Given the description of an element on the screen output the (x, y) to click on. 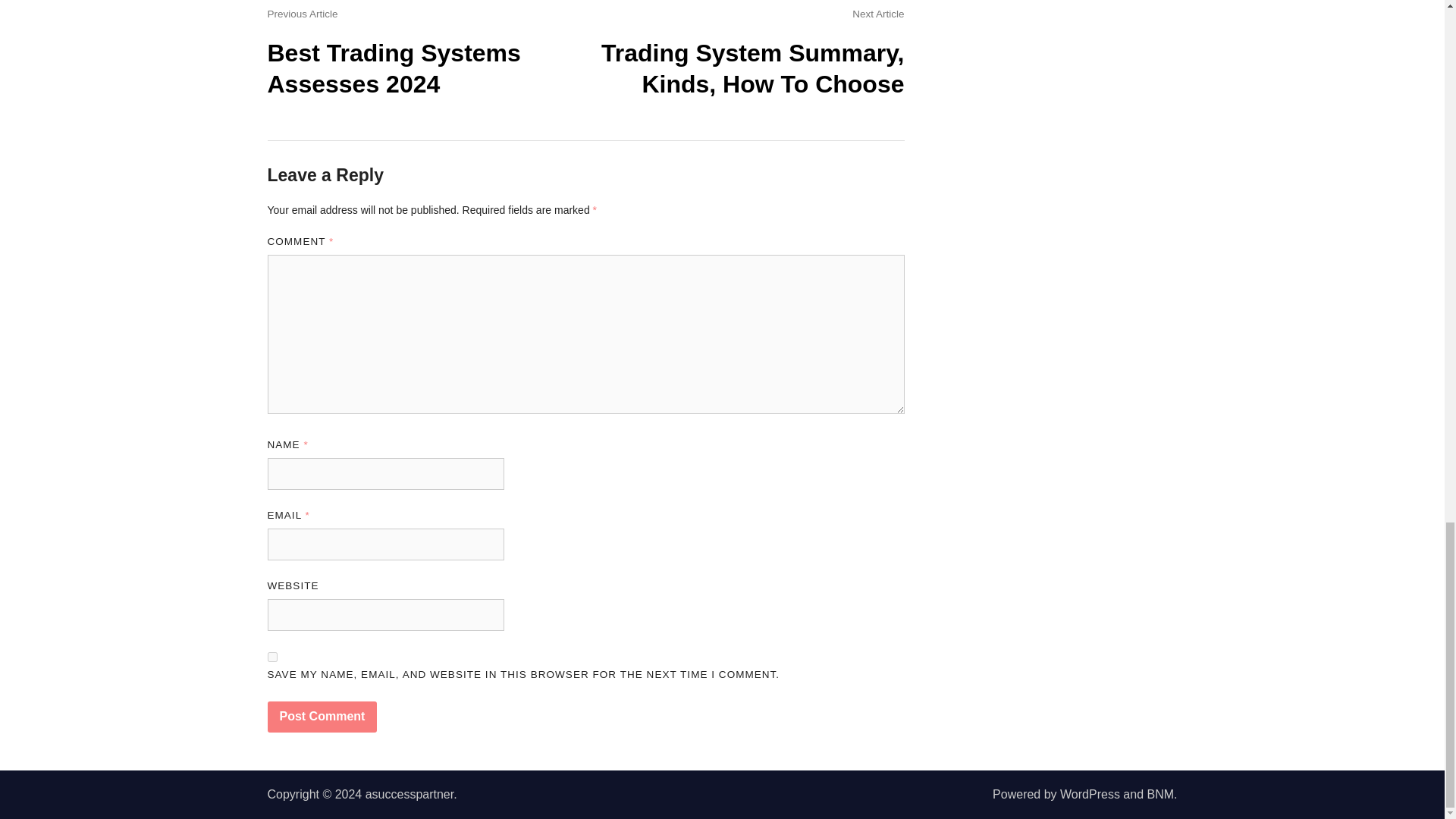
Post Comment (321, 717)
Post Comment (321, 717)
asuccesspartner (409, 793)
yes (271, 656)
